Given the description of an element on the screen output the (x, y) to click on. 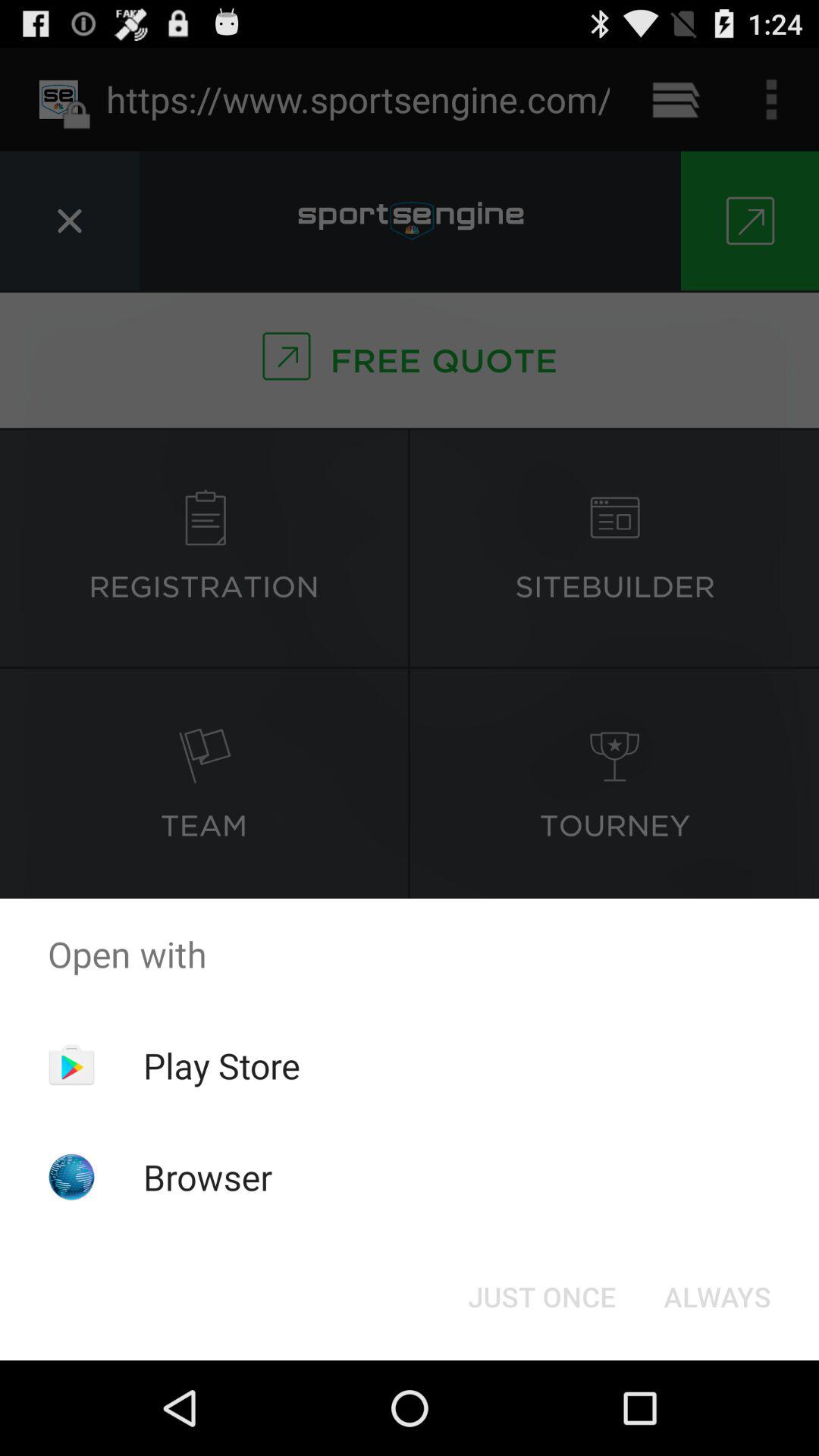
scroll until the play store icon (221, 1065)
